Given the description of an element on the screen output the (x, y) to click on. 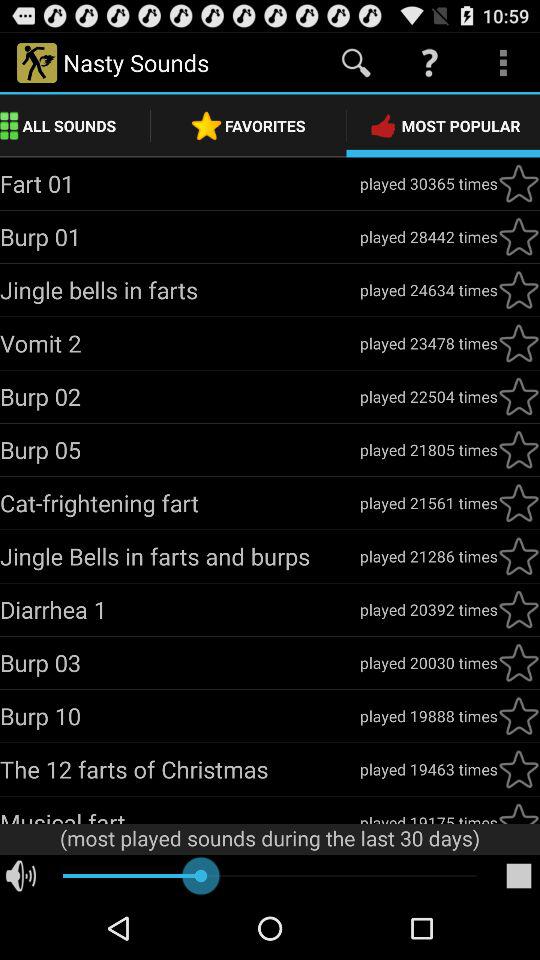
star (519, 609)
